Given the description of an element on the screen output the (x, y) to click on. 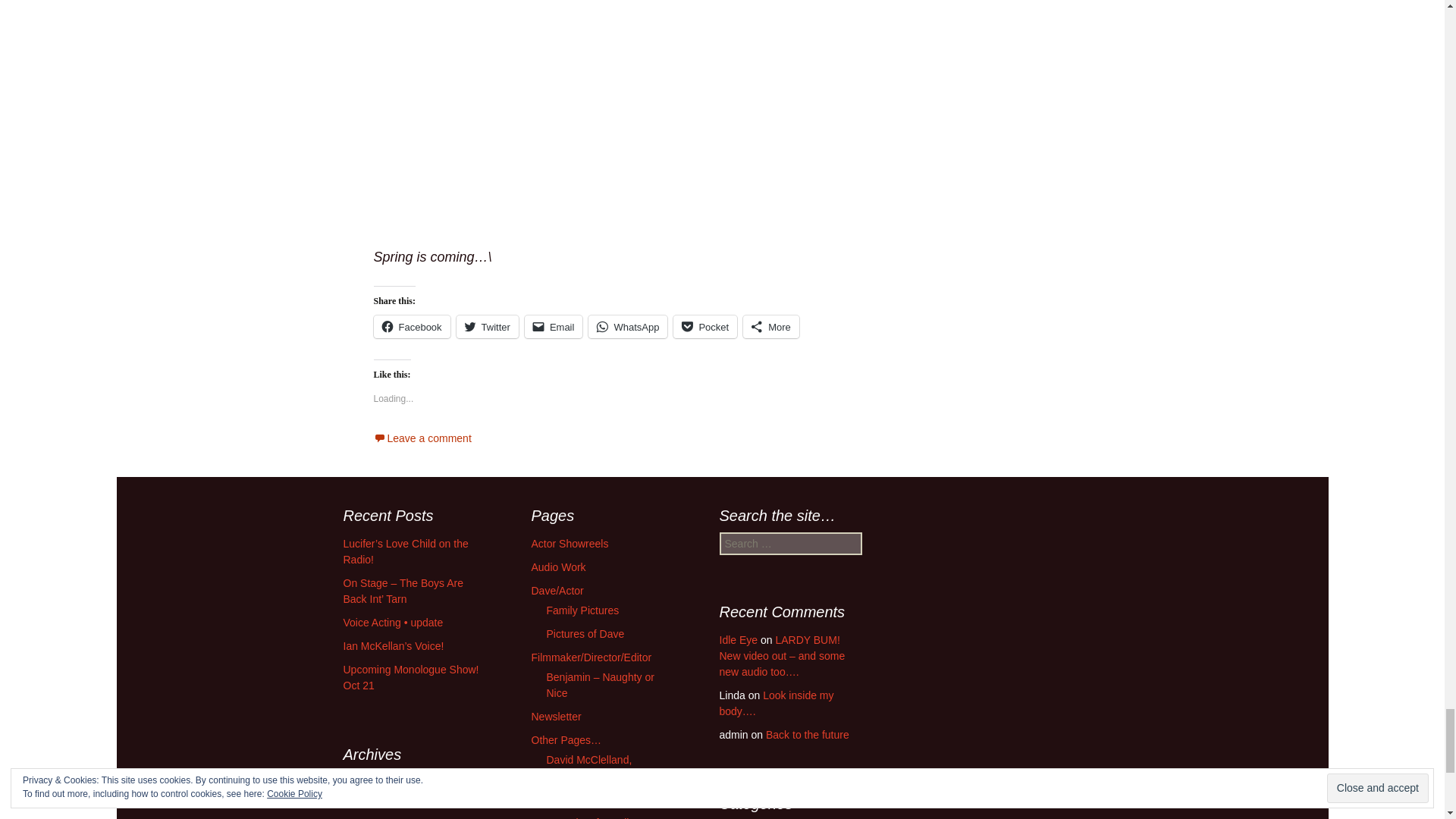
Click to email a link to a friend (553, 326)
Click to share on Facebook (410, 326)
Click to share on Pocket (704, 326)
Click to share on WhatsApp (627, 326)
Click to share on Twitter (487, 326)
